Given the description of an element on the screen output the (x, y) to click on. 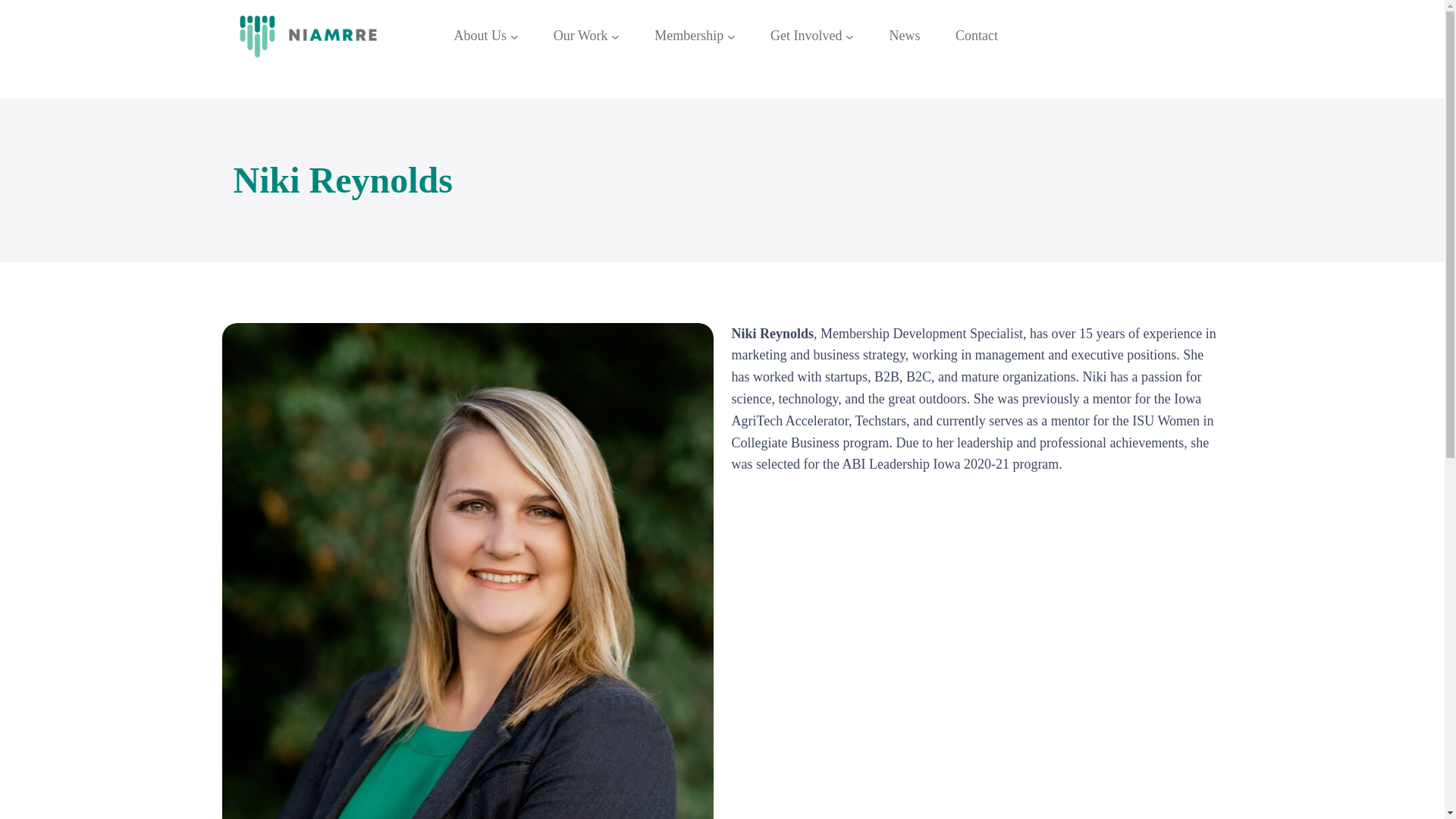
News (904, 36)
Contact (976, 36)
About Us (479, 36)
Our Work (580, 36)
Get Involved (805, 36)
Membership (688, 36)
